Given the description of an element on the screen output the (x, y) to click on. 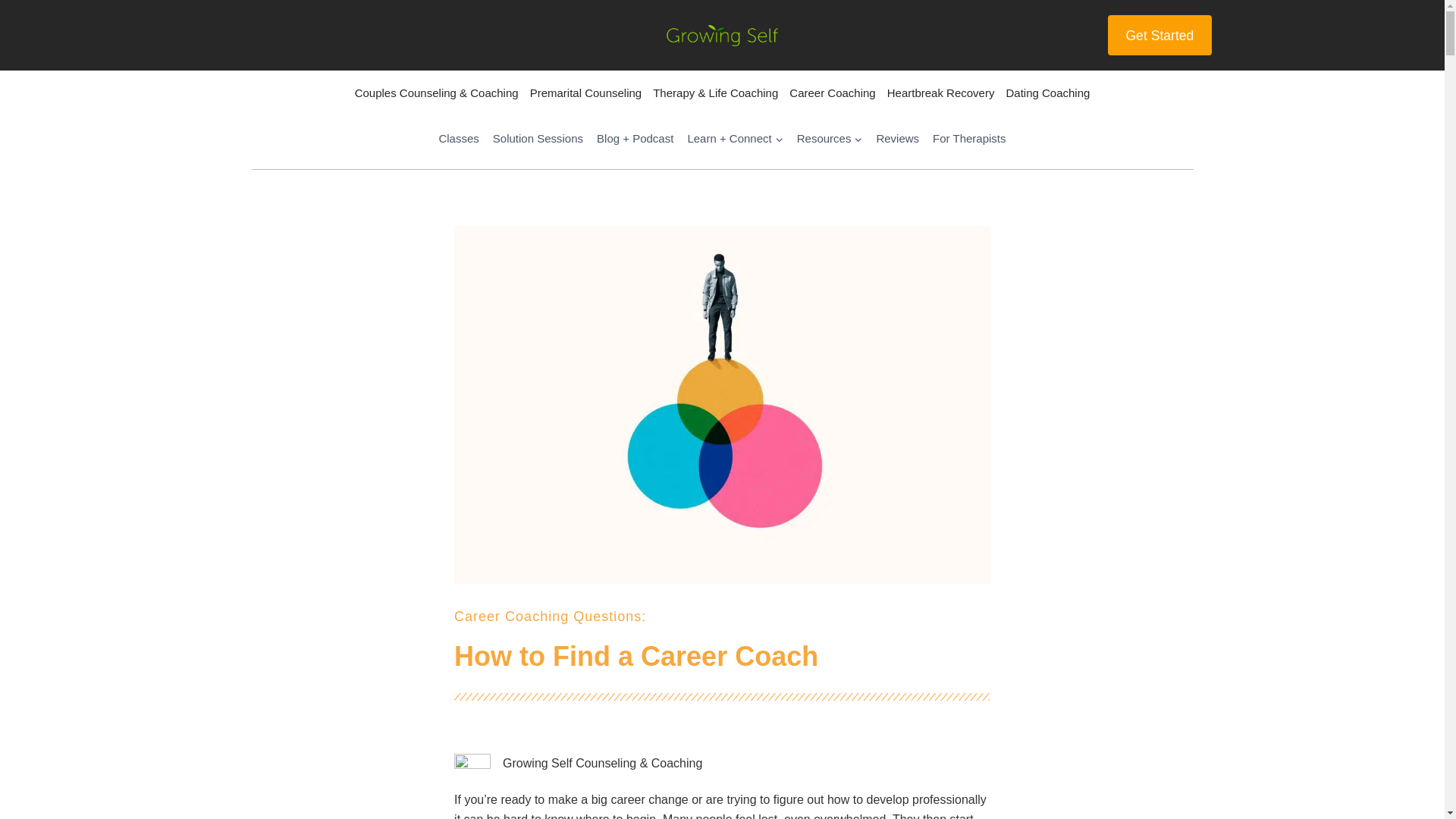
Premarital Counseling (585, 92)
Heartbreak Recovery (940, 92)
Classes (457, 138)
Career Coaching (832, 92)
Resources (829, 138)
Solution Sessions (537, 138)
Get Started (1159, 35)
Dating Coaching (1048, 92)
